Given the description of an element on the screen output the (x, y) to click on. 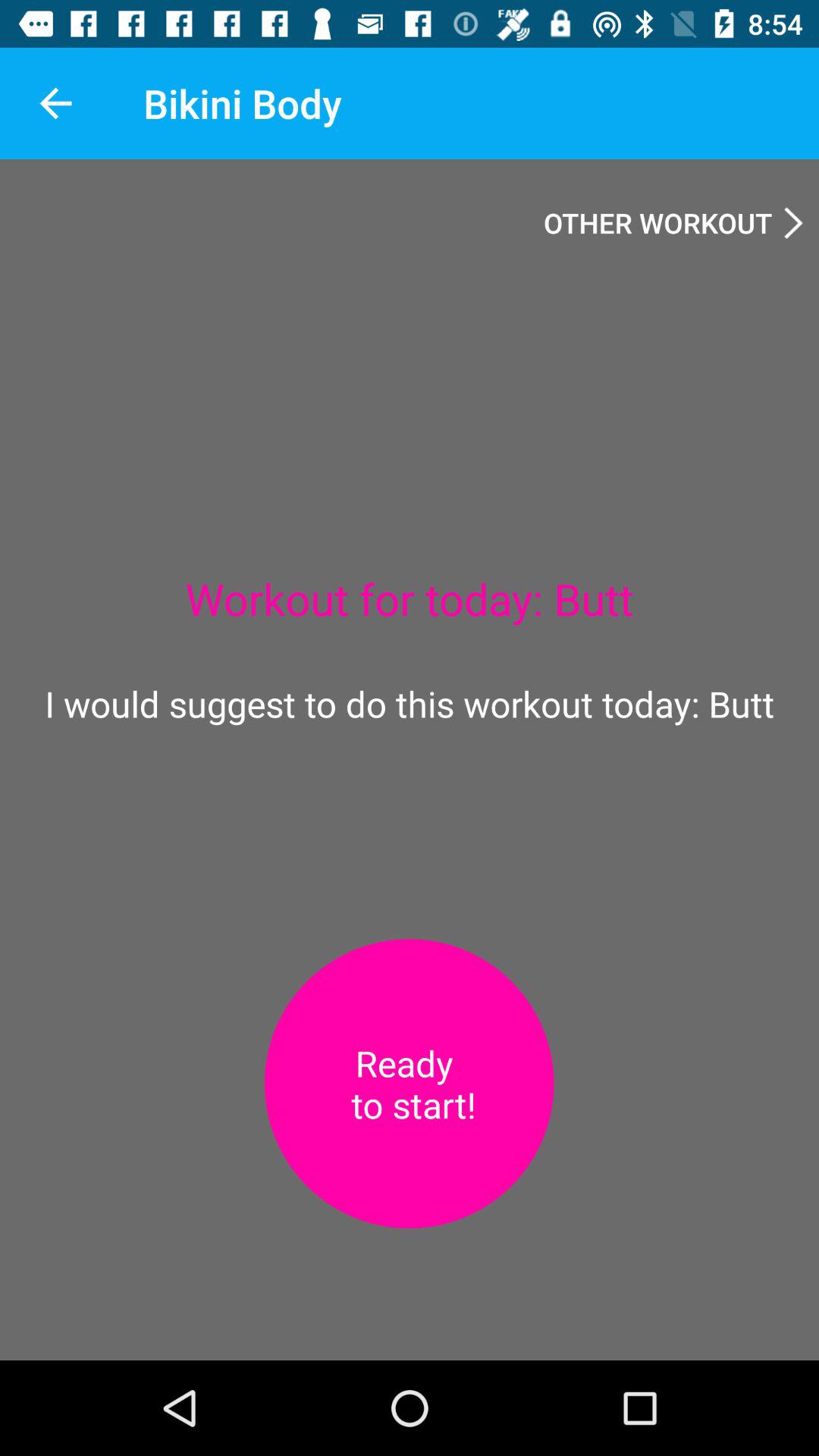
turn off icon below i would suggest (408, 1083)
